Given the description of an element on the screen output the (x, y) to click on. 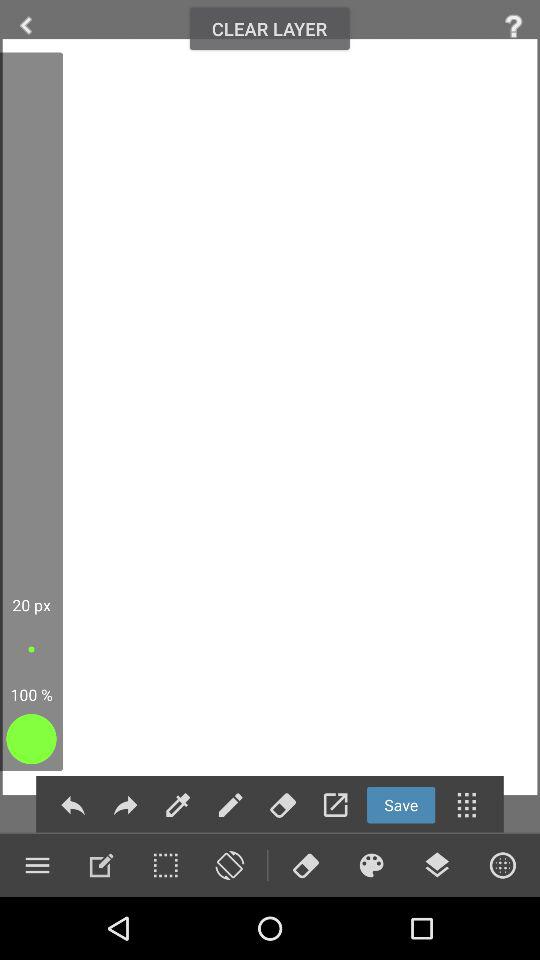
to erase a line (282, 804)
